Given the description of an element on the screen output the (x, y) to click on. 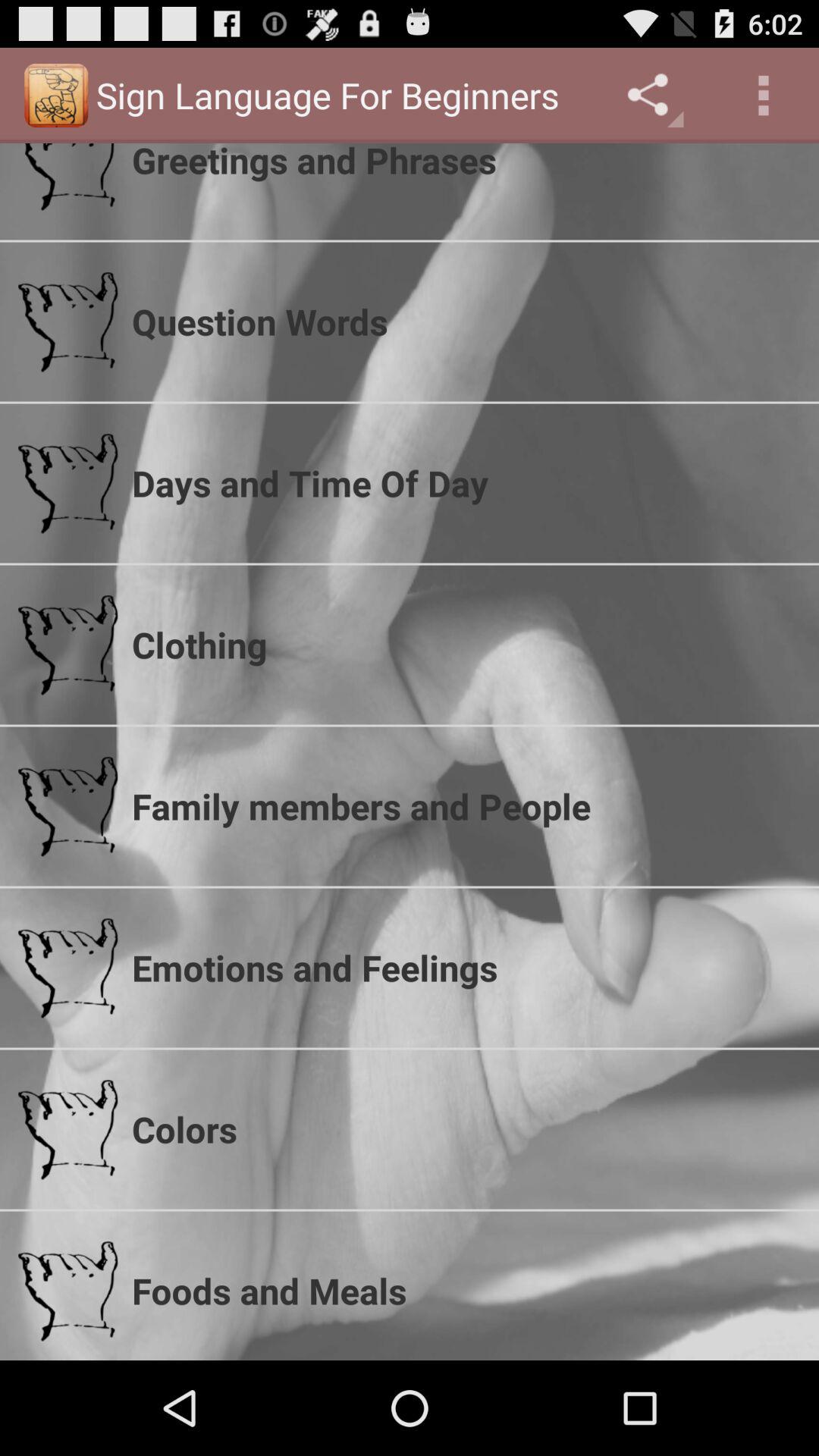
launch item below the clothing item (465, 806)
